Given the description of an element on the screen output the (x, y) to click on. 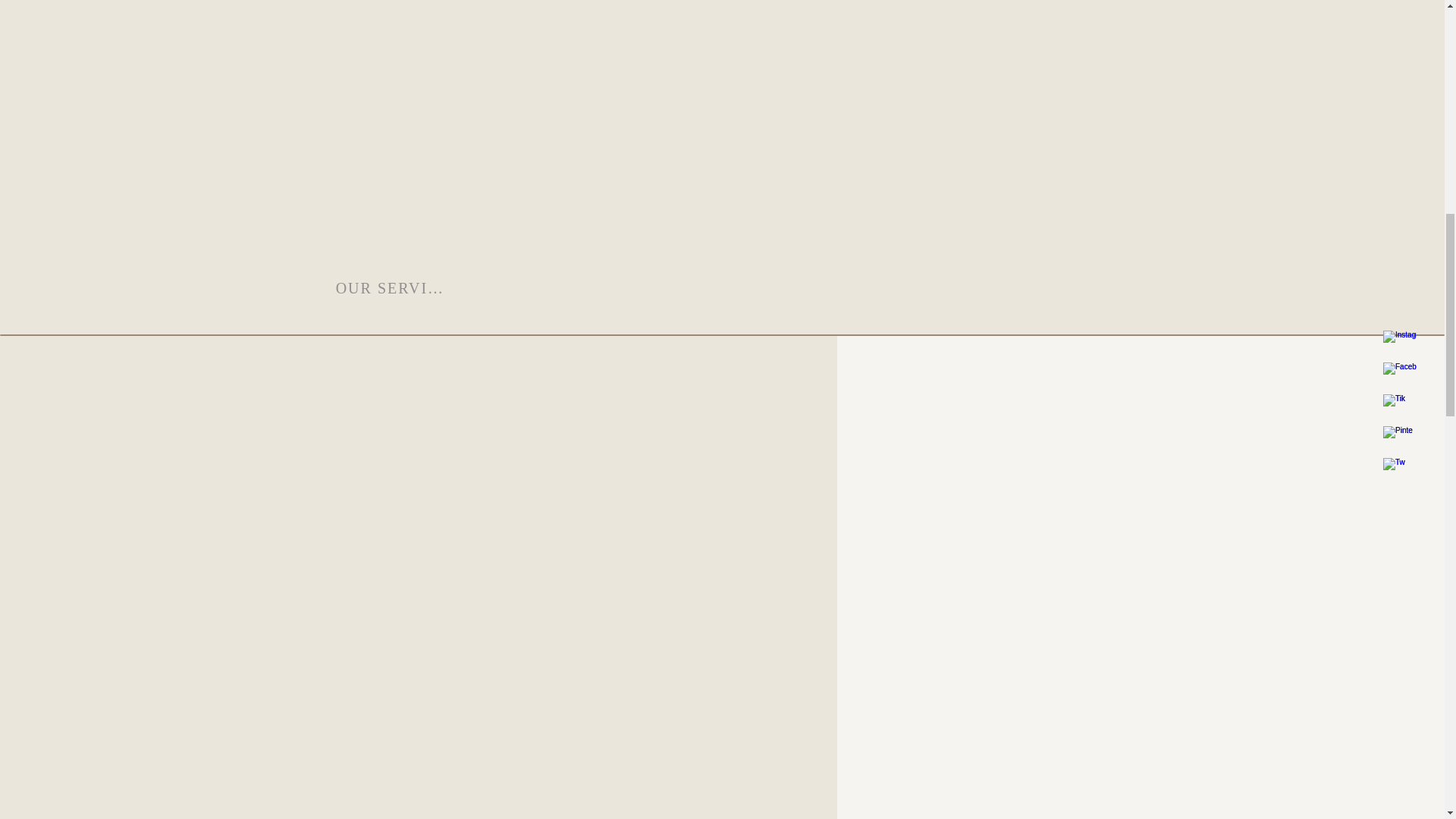
OUR SERVICES (390, 287)
